Given the description of an element on the screen output the (x, y) to click on. 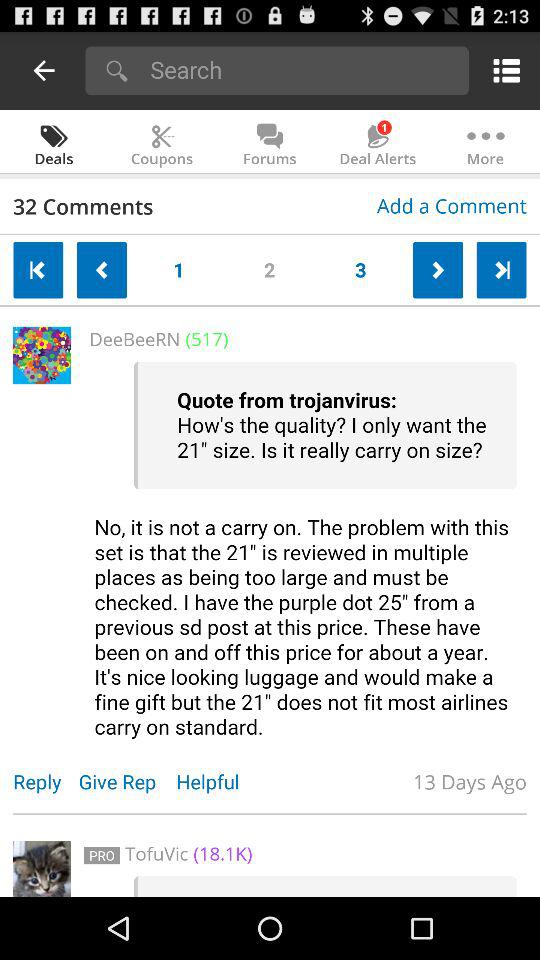
select icon to the left of the 13 days ago item (218, 781)
